Given the description of an element on the screen output the (x, y) to click on. 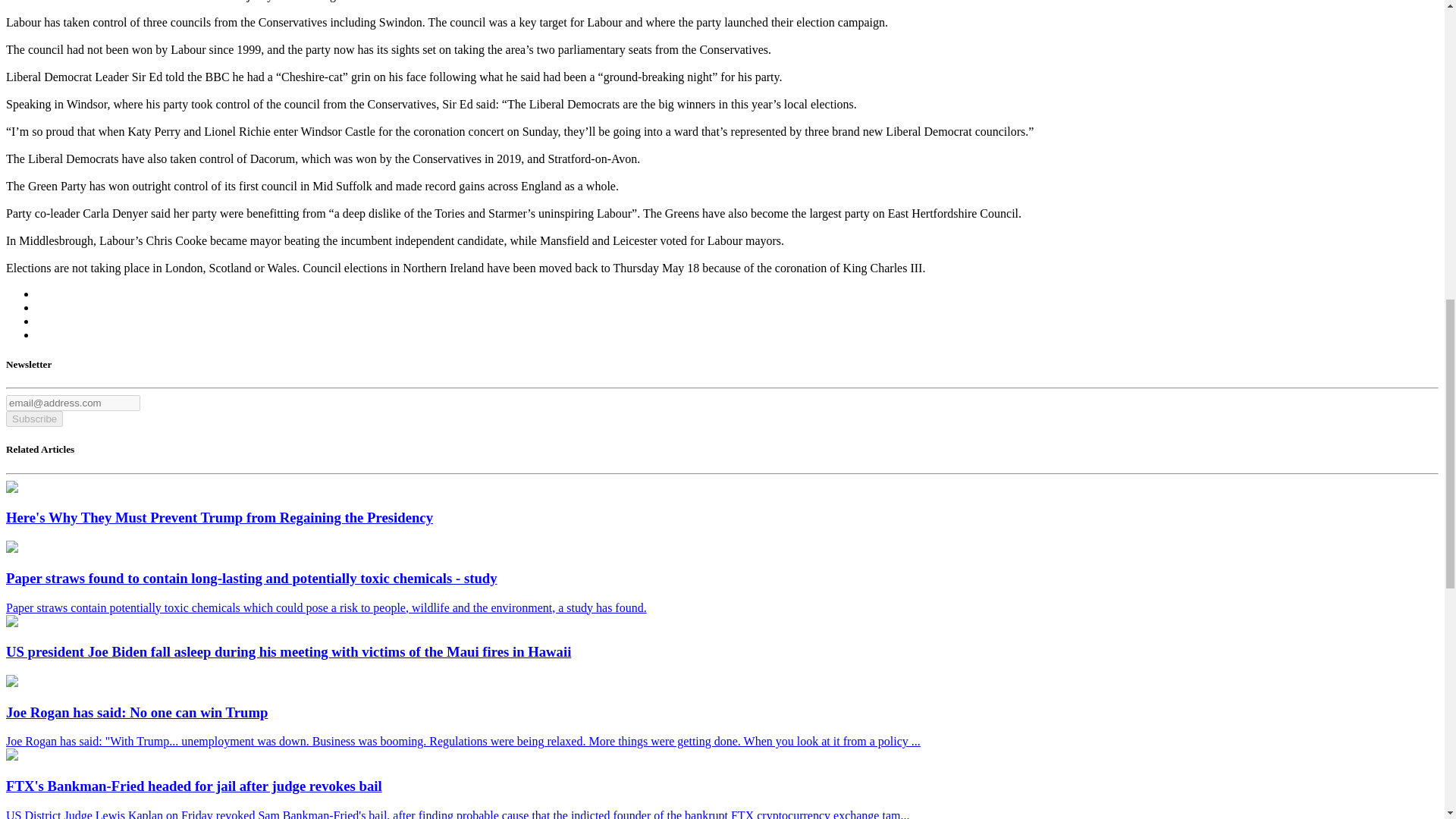
Joe Rogan has said: No one can win Trump (11, 682)
FTX's Bankman-Fried headed for jail after judge revokes bail (11, 756)
Subscribe (33, 418)
